Given the description of an element on the screen output the (x, y) to click on. 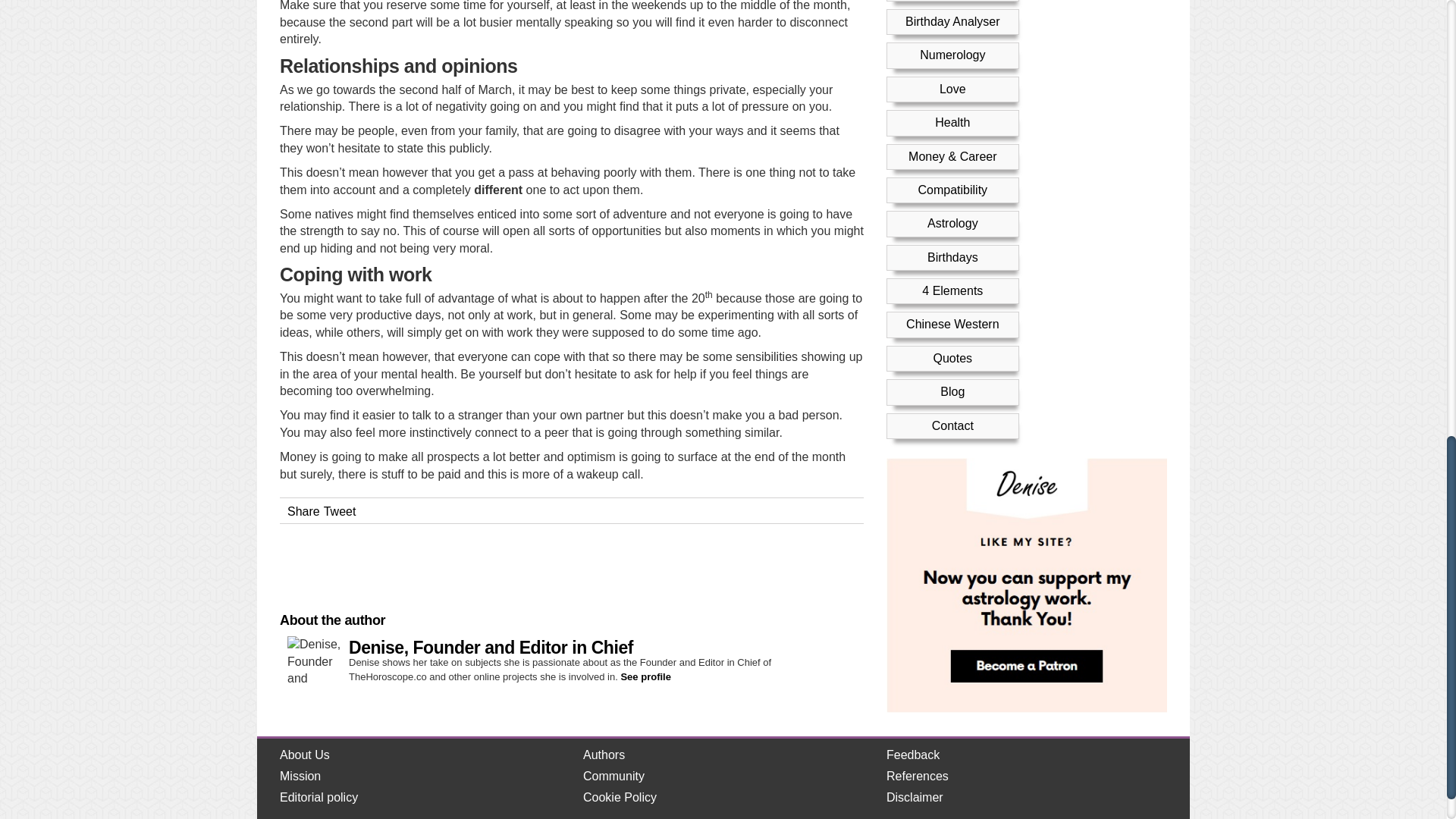
Chinese Western (952, 10)
Contact (952, 111)
Quotes (952, 43)
Blog (952, 77)
